Given the description of an element on the screen output the (x, y) to click on. 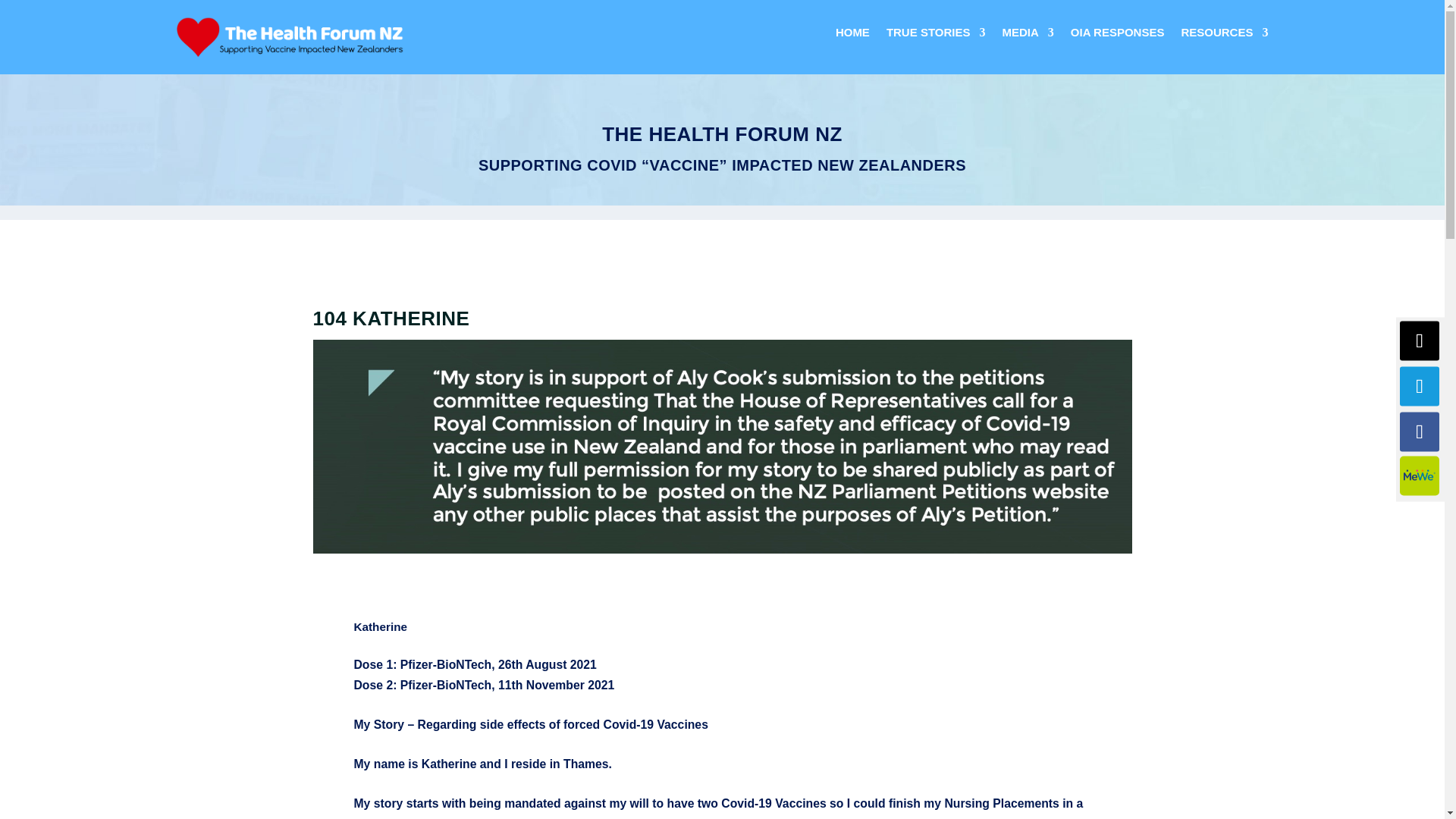
Follow on X (1419, 341)
Follow on Telegram (1419, 386)
HOME (852, 35)
TRUE STORIES (935, 35)
LOGO-BLUE-12 (290, 36)
RESOURCES (1224, 35)
MEDIA (1026, 35)
OIA RESPONSES (1117, 35)
Follow on Facebook (1419, 432)
